Given the description of an element on the screen output the (x, y) to click on. 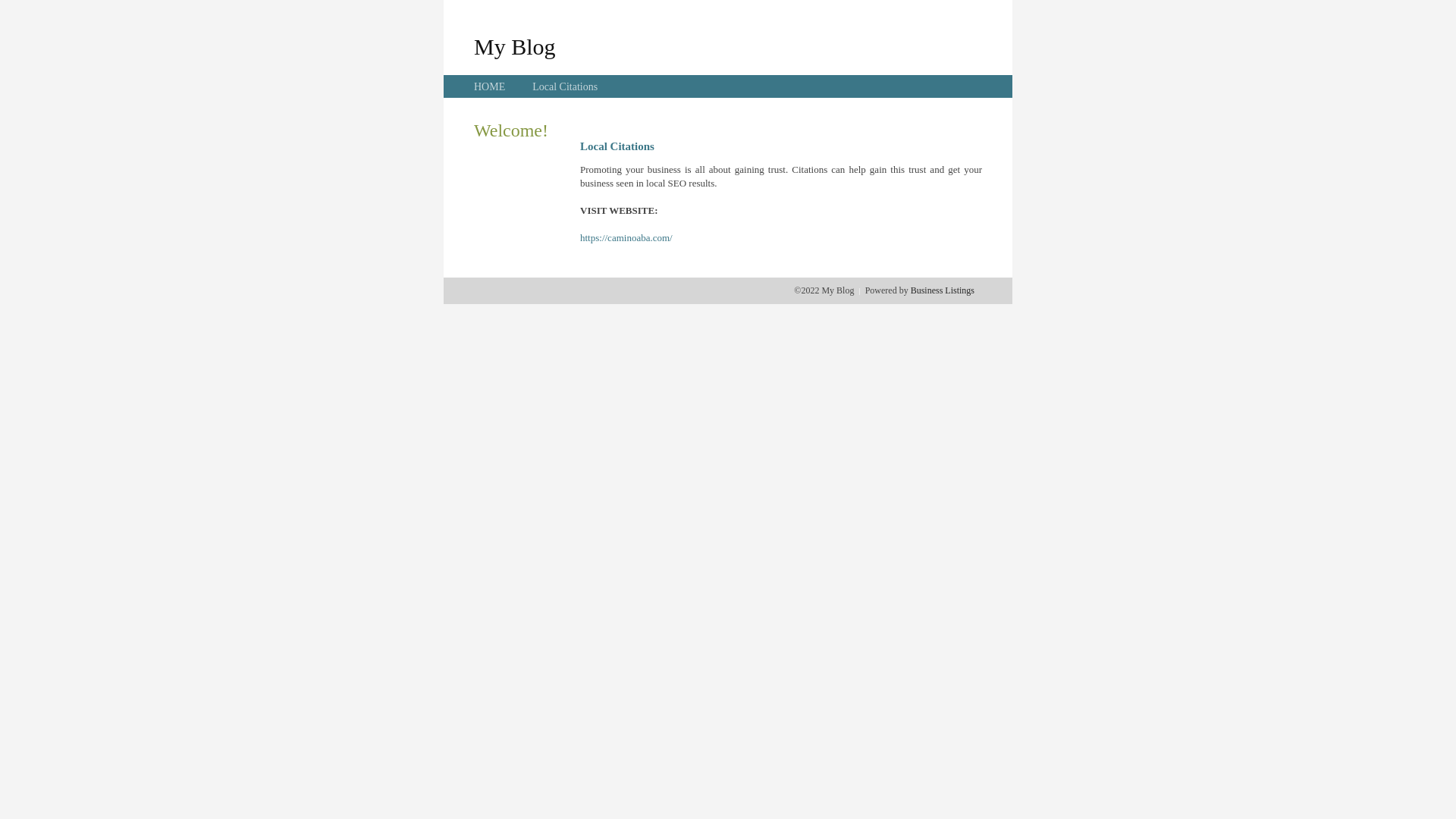
My Blog Element type: text (514, 46)
https://caminoaba.com/ Element type: text (626, 237)
Business Listings Element type: text (942, 290)
Local Citations Element type: text (564, 86)
HOME Element type: text (489, 86)
